Given the description of an element on the screen output the (x, y) to click on. 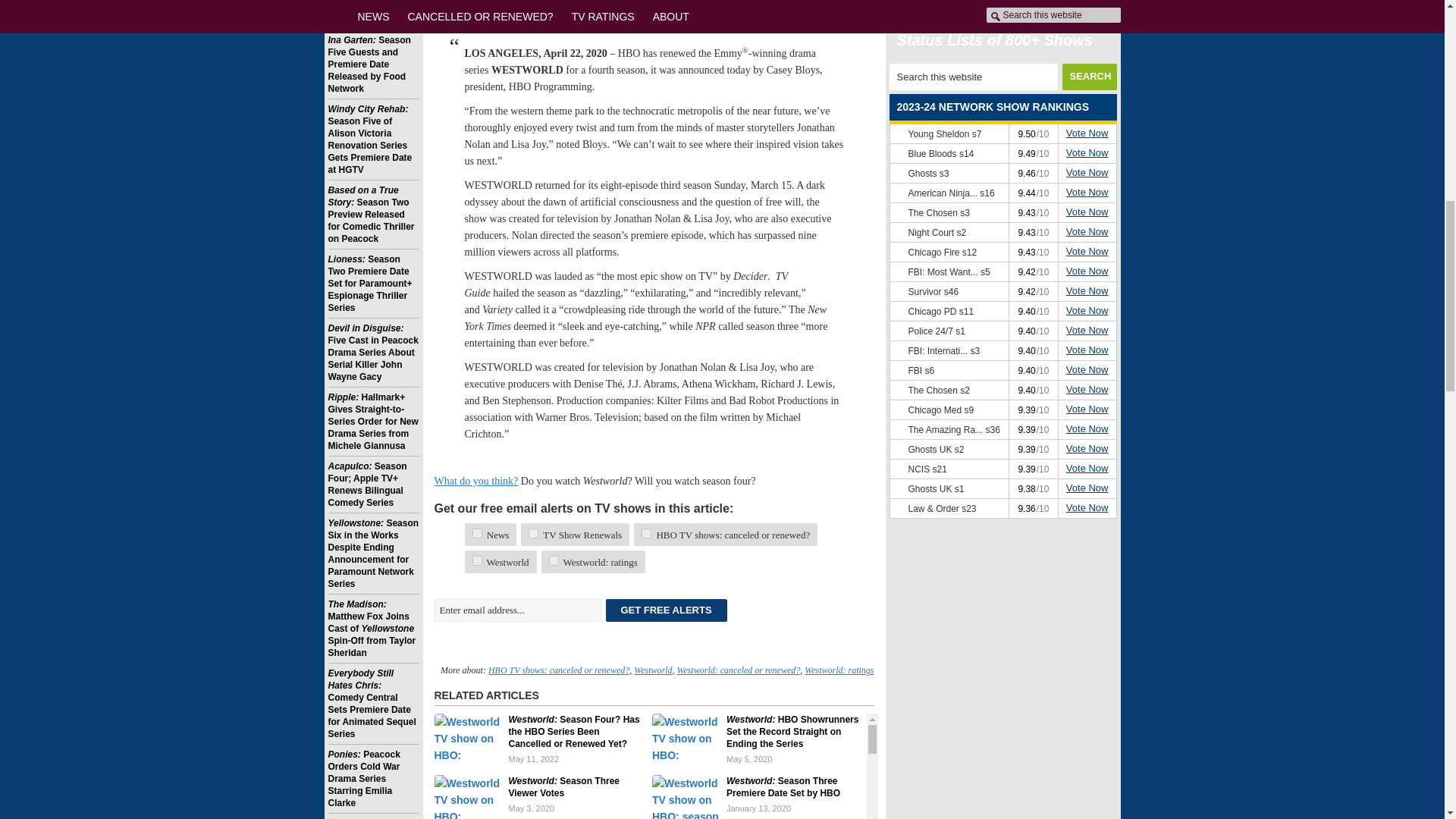
westworld-ratings (553, 560)
westworld (476, 560)
GET FREE ALERTS (665, 609)
Search (1088, 76)
Westworld: ratings (839, 670)
HBO TV shows: canceled or renewed? (557, 670)
Westworld (652, 670)
tv-show-renewals (533, 533)
Westworld: canceled or renewed? (738, 670)
news (476, 533)
